Given the description of an element on the screen output the (x, y) to click on. 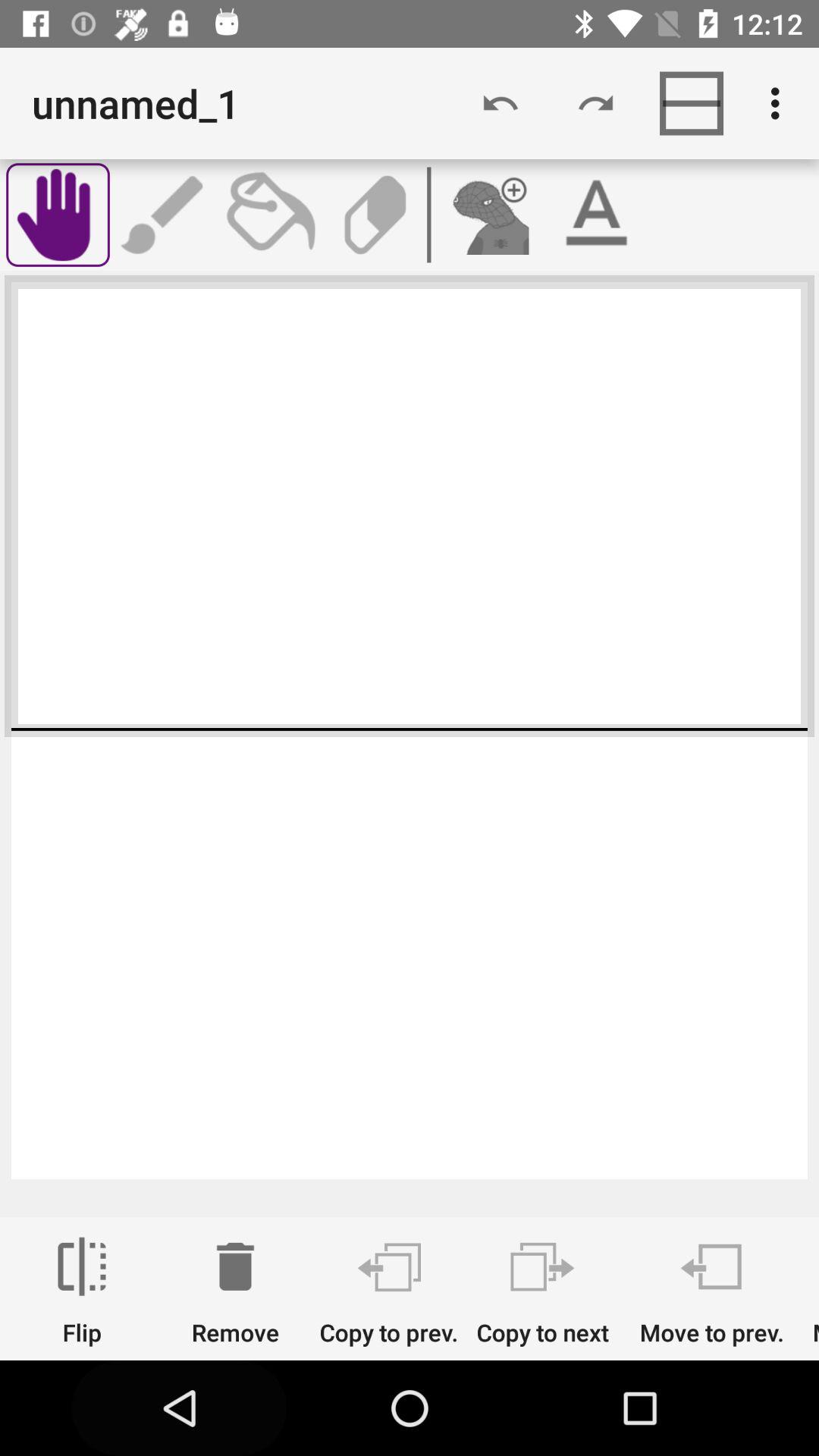
highlight (596, 214)
